Given the description of an element on the screen output the (x, y) to click on. 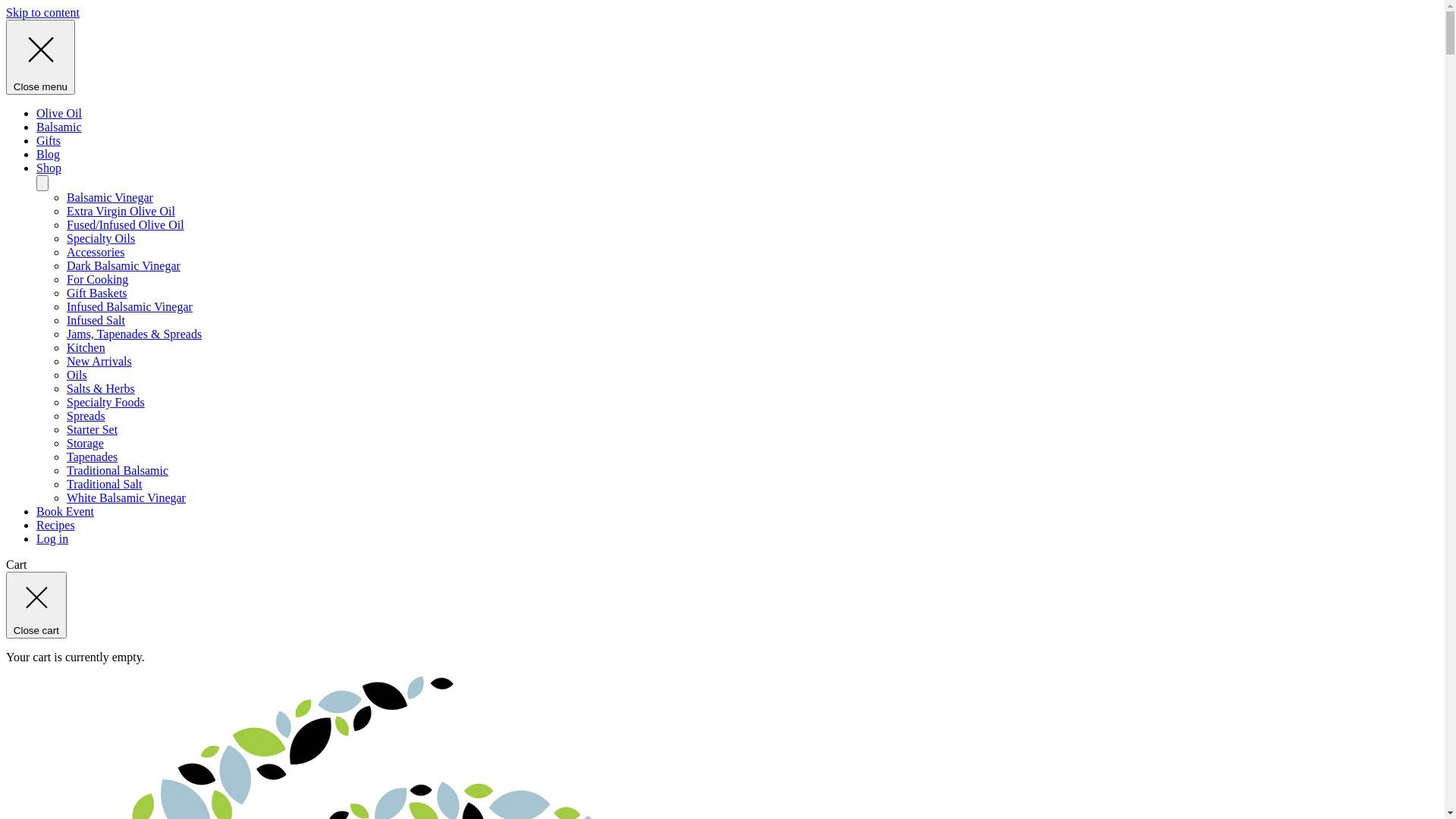
Fused/Infused Olive Oil Element type: text (125, 224)
Starter Set Element type: text (91, 429)
Storage Element type: text (84, 442)
Jams, Tapenades & Spreads Element type: text (133, 333)
Extra Virgin Olive Oil Element type: text (120, 210)
Log in Element type: text (52, 538)
Traditional Balsamic Element type: text (117, 470)
Gifts Element type: text (48, 140)
Book Event Element type: text (65, 511)
Traditional Salt Element type: text (103, 483)
Tapenades Element type: text (91, 456)
Accessories Element type: text (95, 251)
Infused Salt Element type: text (95, 319)
For Cooking Element type: text (97, 279)
Recipes Element type: text (55, 524)
Olive Oil Element type: text (58, 112)
Shop Element type: text (48, 167)
Specialty Foods Element type: text (105, 401)
Infused Balsamic Vinegar Element type: text (129, 306)
Dark Balsamic Vinegar Element type: text (123, 265)
Gift Baskets Element type: text (96, 292)
Skip to content Element type: text (42, 12)
Oils Element type: text (76, 374)
Spreads Element type: text (85, 415)
Blog Element type: text (47, 153)
Specialty Oils Element type: text (100, 238)
Kitchen Element type: text (85, 347)
New Arrivals Element type: text (98, 360)
White Balsamic Vinegar Element type: text (125, 497)
Balsamic Vinegar Element type: text (109, 197)
Salts & Herbs Element type: text (100, 388)
Balsamic Element type: text (58, 126)
